Given the description of an element on the screen output the (x, y) to click on. 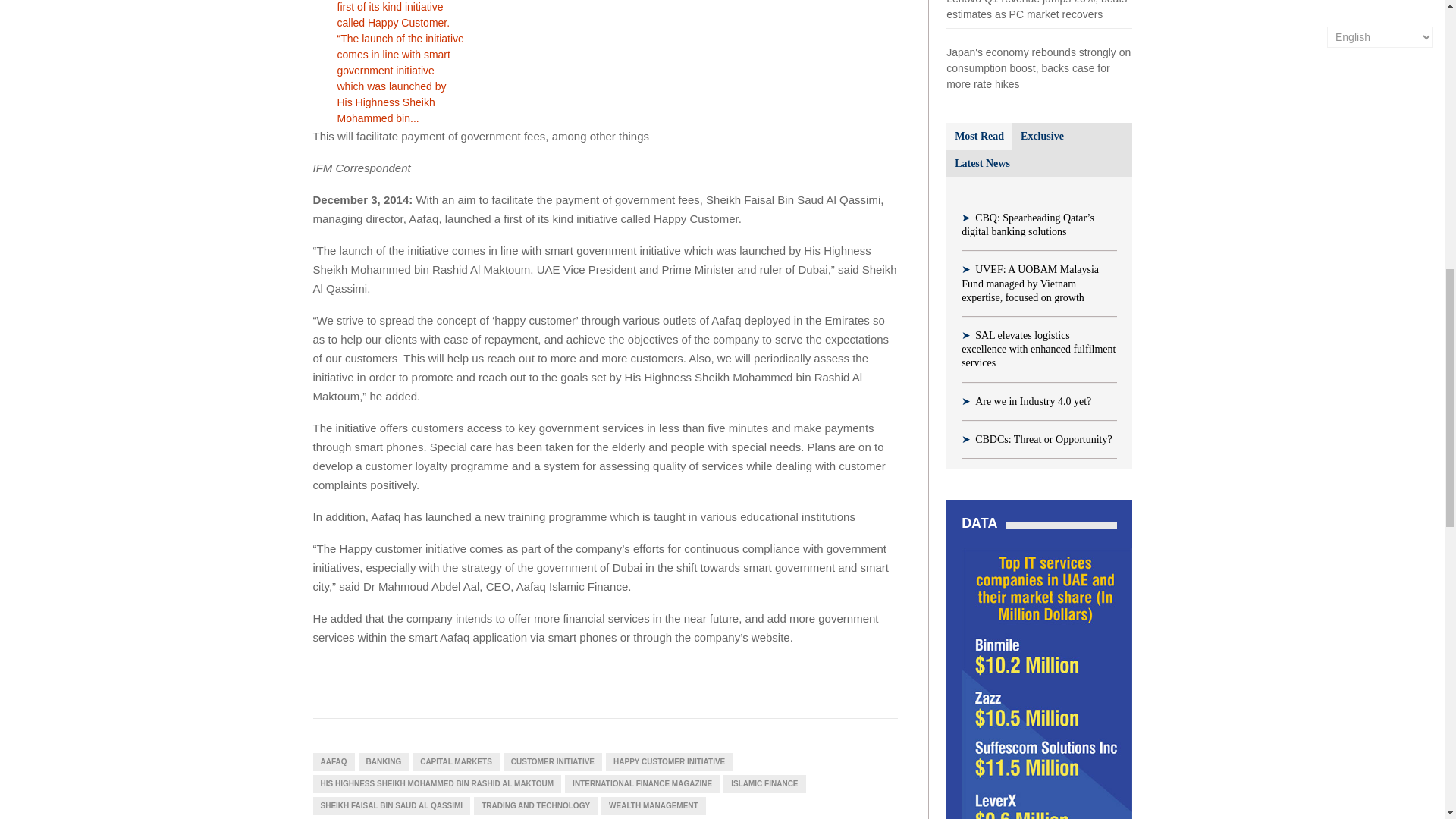
 CBDCs: Threat or Opportunity?  (1043, 439)
 Are we in Industry 4.0 yet?  (1032, 401)
